Given the description of an element on the screen output the (x, y) to click on. 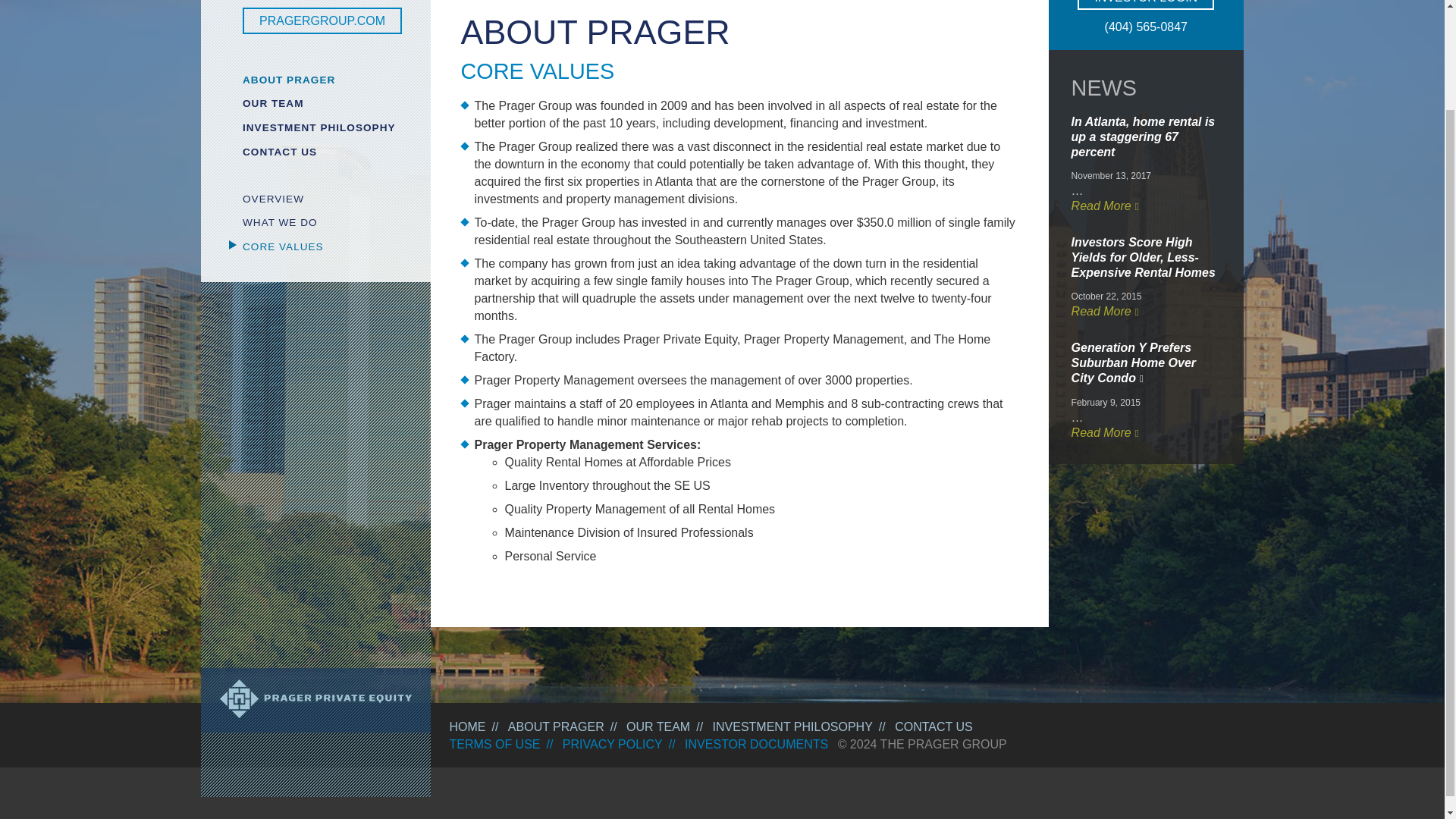
OUR TEAM (325, 103)
Generation Y Prefers Suburban Home Over City Condo (1133, 362)
CONTACT US (933, 726)
PRIVACY POLICY (612, 744)
In Atlanta, home rental is up a staggering 67 percent (1143, 136)
INVESTOR DOCUMENTS (756, 744)
ABOUT PRAGER (556, 726)
INVESTOR LOGIN (1145, 4)
